Given the description of an element on the screen output the (x, y) to click on. 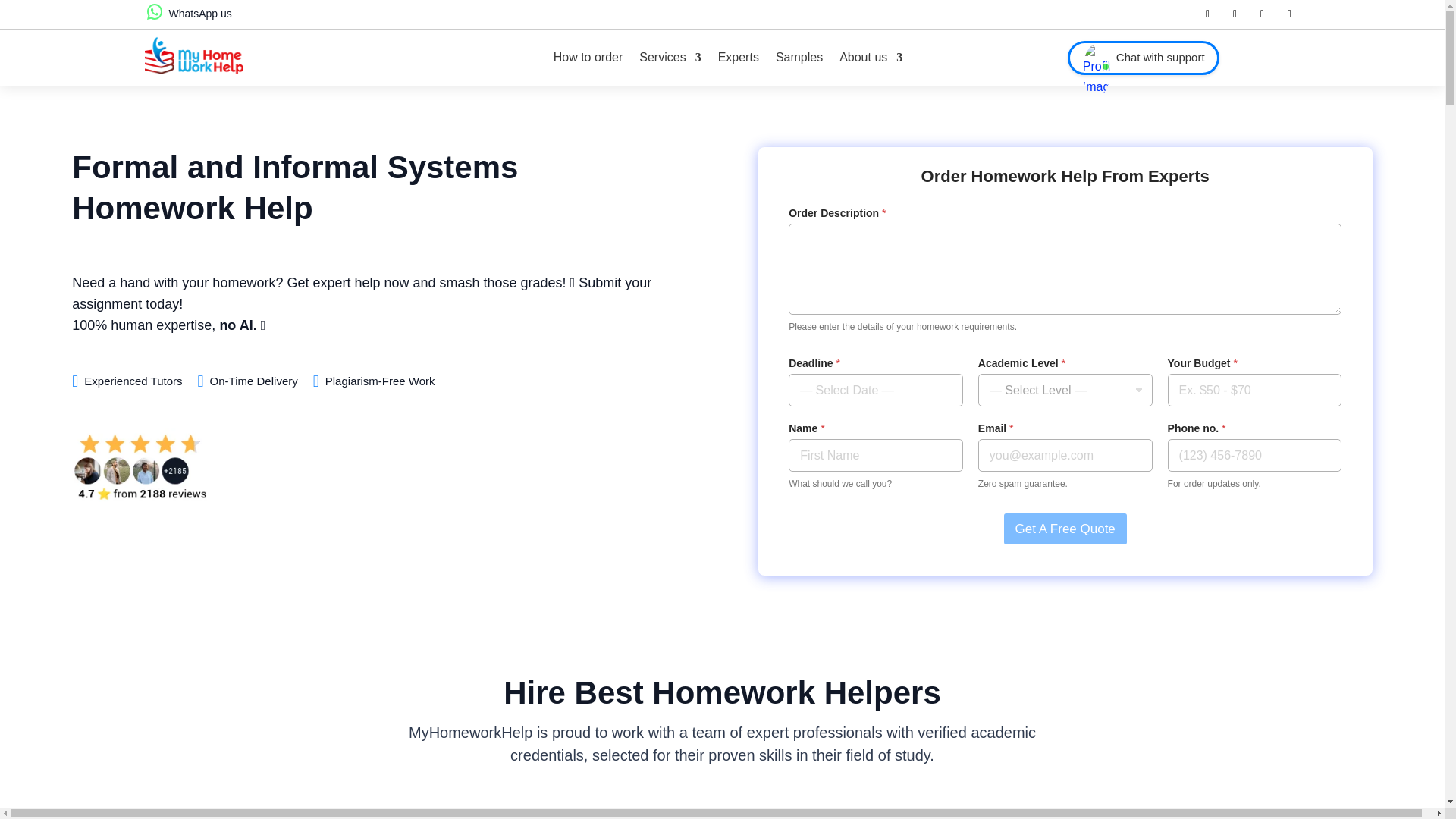
Hero-Logo (193, 55)
Follow on X (1234, 14)
Follow on Facebook (1206, 14)
Follow on LinkedIn (1261, 14)
Follow on Instagram (1289, 14)
univ logos-1 (721, 813)
Experts (737, 57)
How to order (588, 57)
social reviews (139, 467)
Services (669, 57)
univ logos-2 (964, 813)
